Given the description of an element on the screen output the (x, y) to click on. 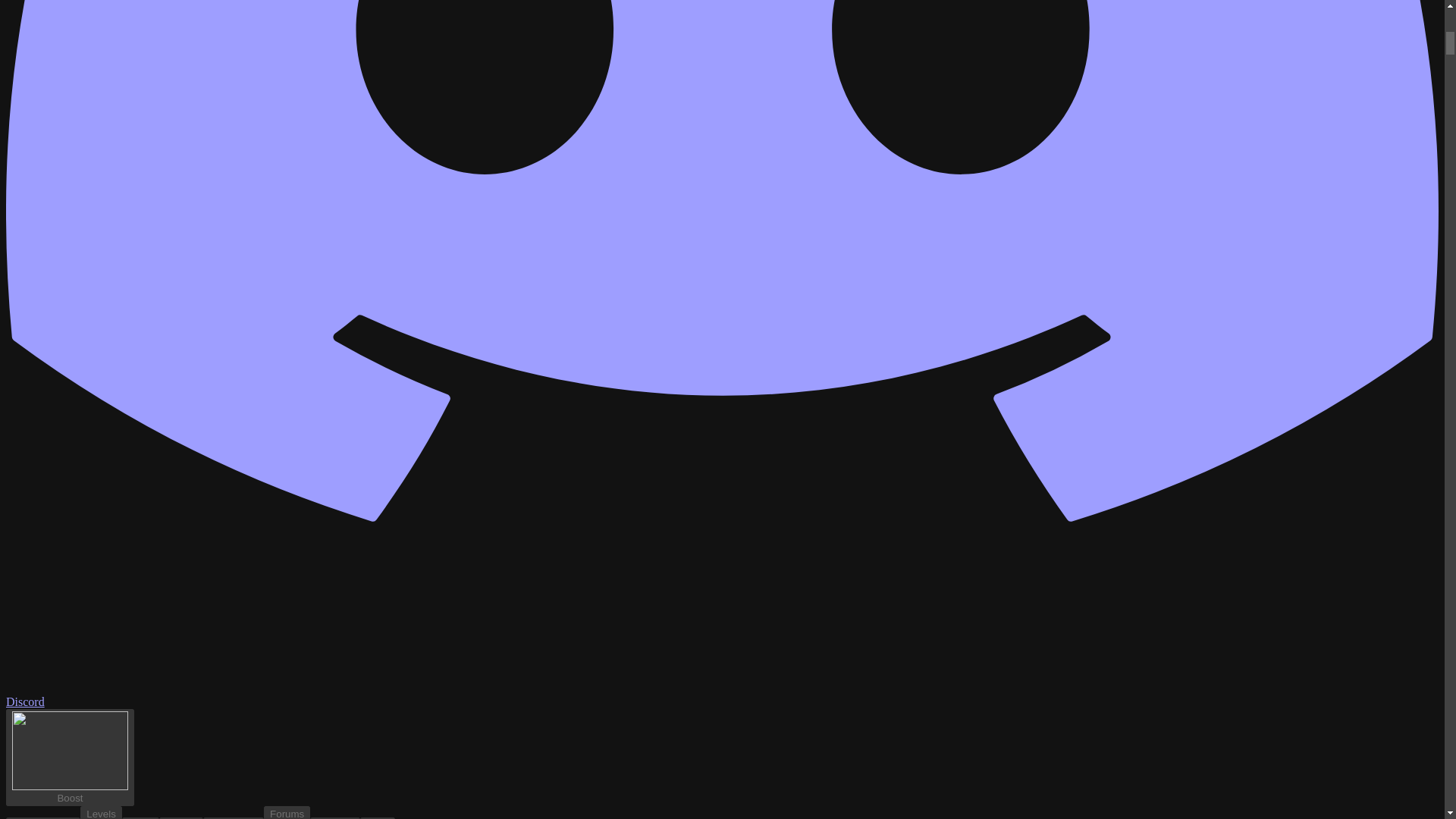
Resources (233, 818)
Stats (376, 818)
Guides (286, 818)
Leaderboards (101, 818)
Boost (286, 812)
